Given the description of an element on the screen output the (x, y) to click on. 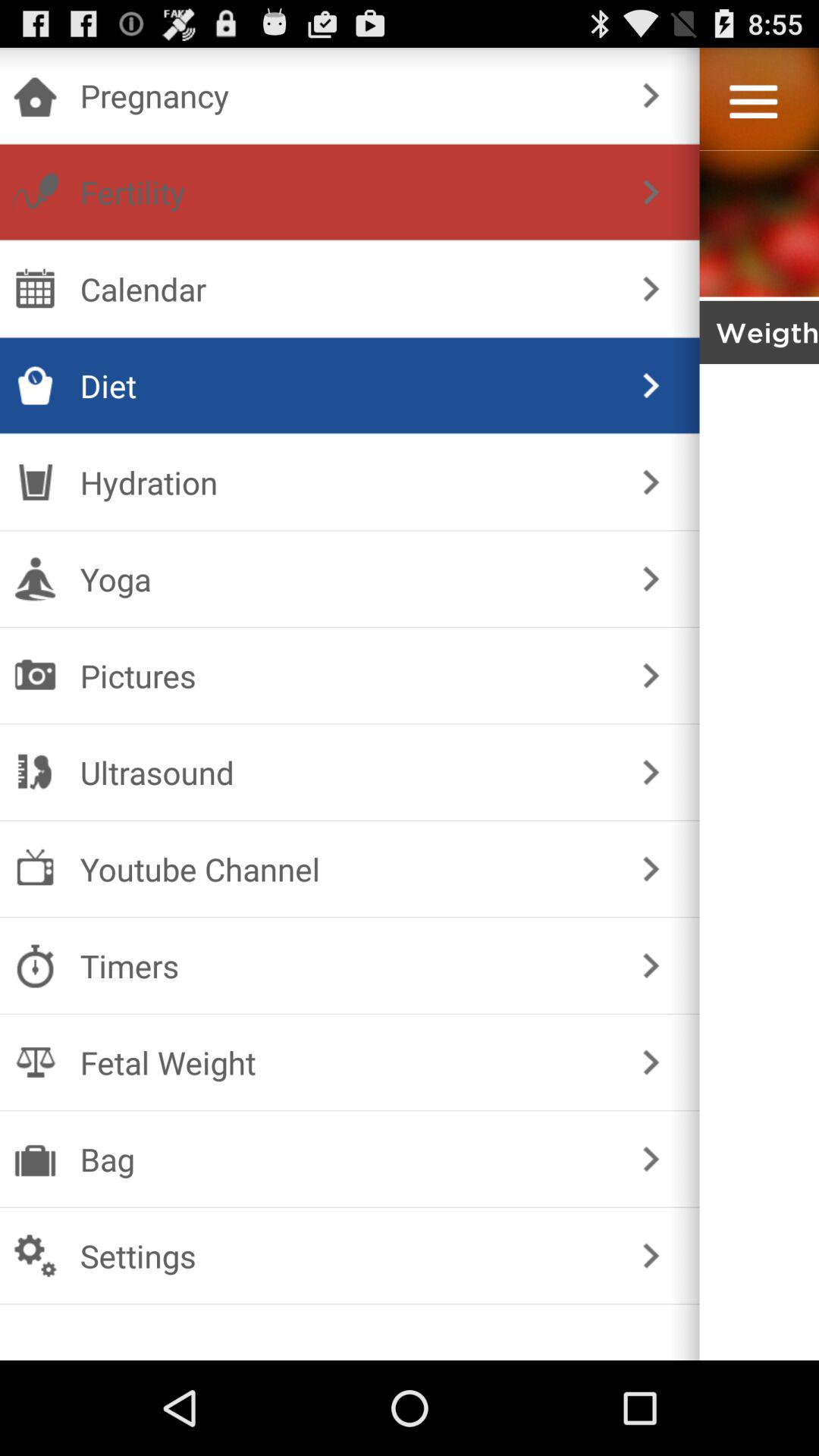
select the pregnancy (346, 95)
